Given the description of an element on the screen output the (x, y) to click on. 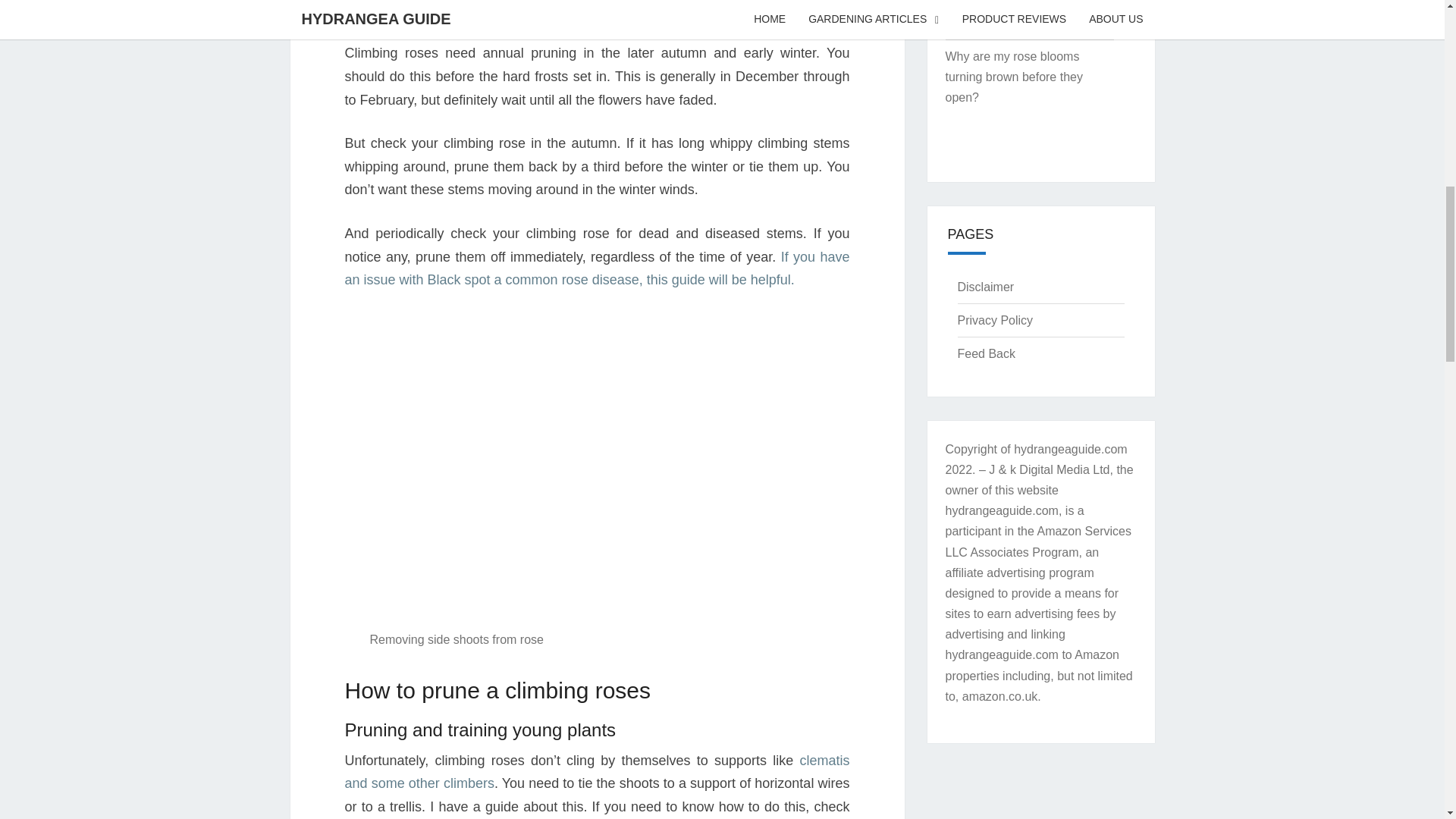
Why are my rose blooms turning brown before they open? (1012, 76)
clematis and some other climbers (595, 771)
